Given the description of an element on the screen output the (x, y) to click on. 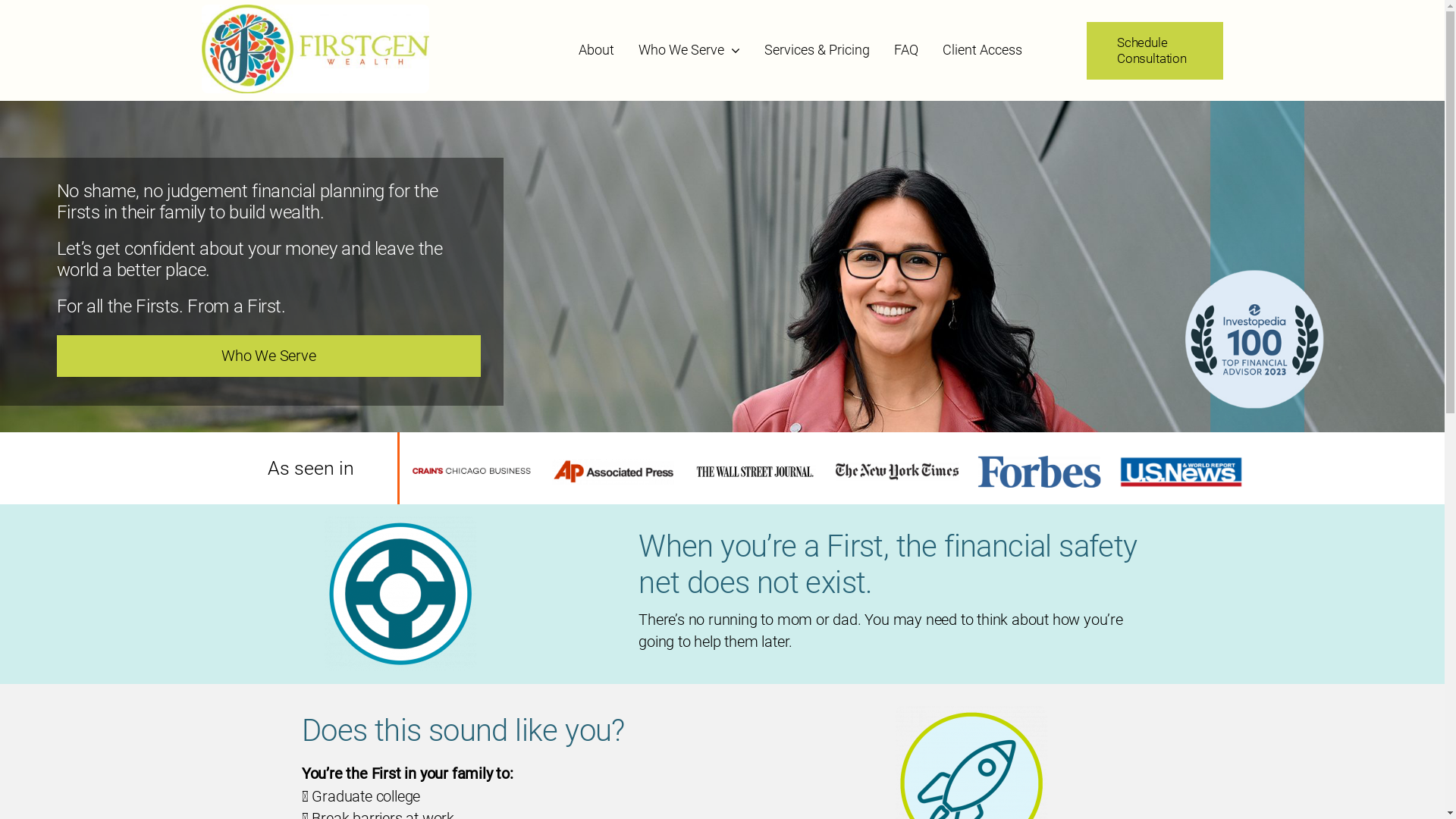
About Element type: text (596, 49)
Client Access Element type: text (982, 49)
Services & Pricing Element type: text (816, 49)
Who We Serve Element type: text (268, 355)
Who We Serve Element type: text (688, 49)
Targeticon2 Element type: hover (400, 593)
FAQ Element type: text (905, 49)
Schedule Consultation Element type: text (1154, 49)
